Given the description of an element on the screen output the (x, y) to click on. 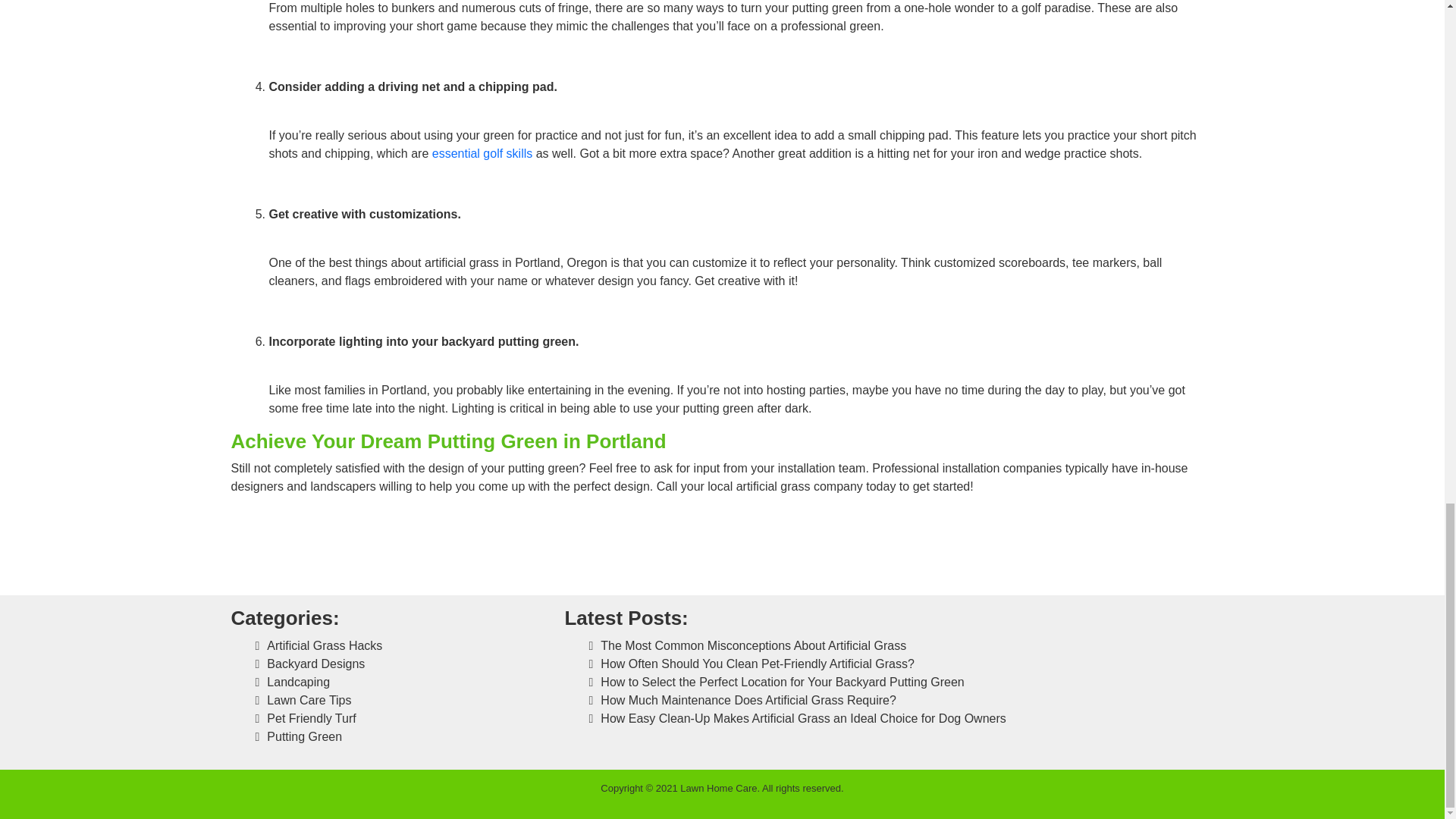
Lawn Care Tips (308, 699)
Artificial Grass Hacks (323, 645)
Landcaping (298, 681)
Putting Green (304, 736)
The Most Common Misconceptions About Artificial Grass (752, 645)
Backyard Designs (315, 663)
How Often Should You Clean Pet-Friendly Artificial Grass? (756, 663)
How Much Maintenance Does Artificial Grass Require? (747, 699)
essential golf skills (482, 153)
Pet Friendly Turf (310, 717)
